Given the description of an element on the screen output the (x, y) to click on. 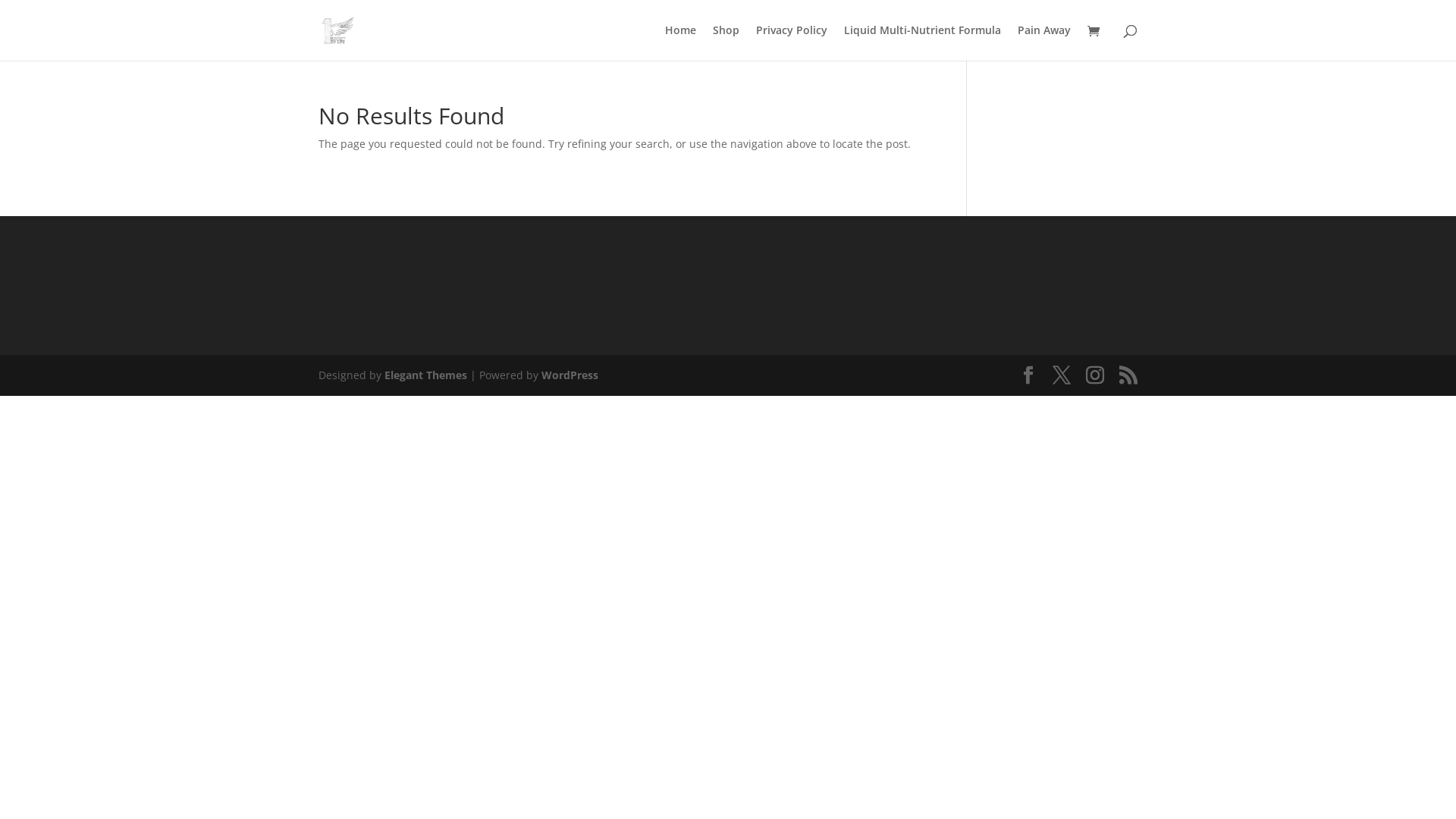
Privacy Policy Element type: text (791, 42)
Pain Away Element type: text (1043, 42)
WordPress Element type: text (569, 374)
Liquid Multi-Nutrient Formula Element type: text (922, 42)
Home Element type: text (680, 42)
Shop Element type: text (725, 42)
Elegant Themes Element type: text (425, 374)
